Given the description of an element on the screen output the (x, y) to click on. 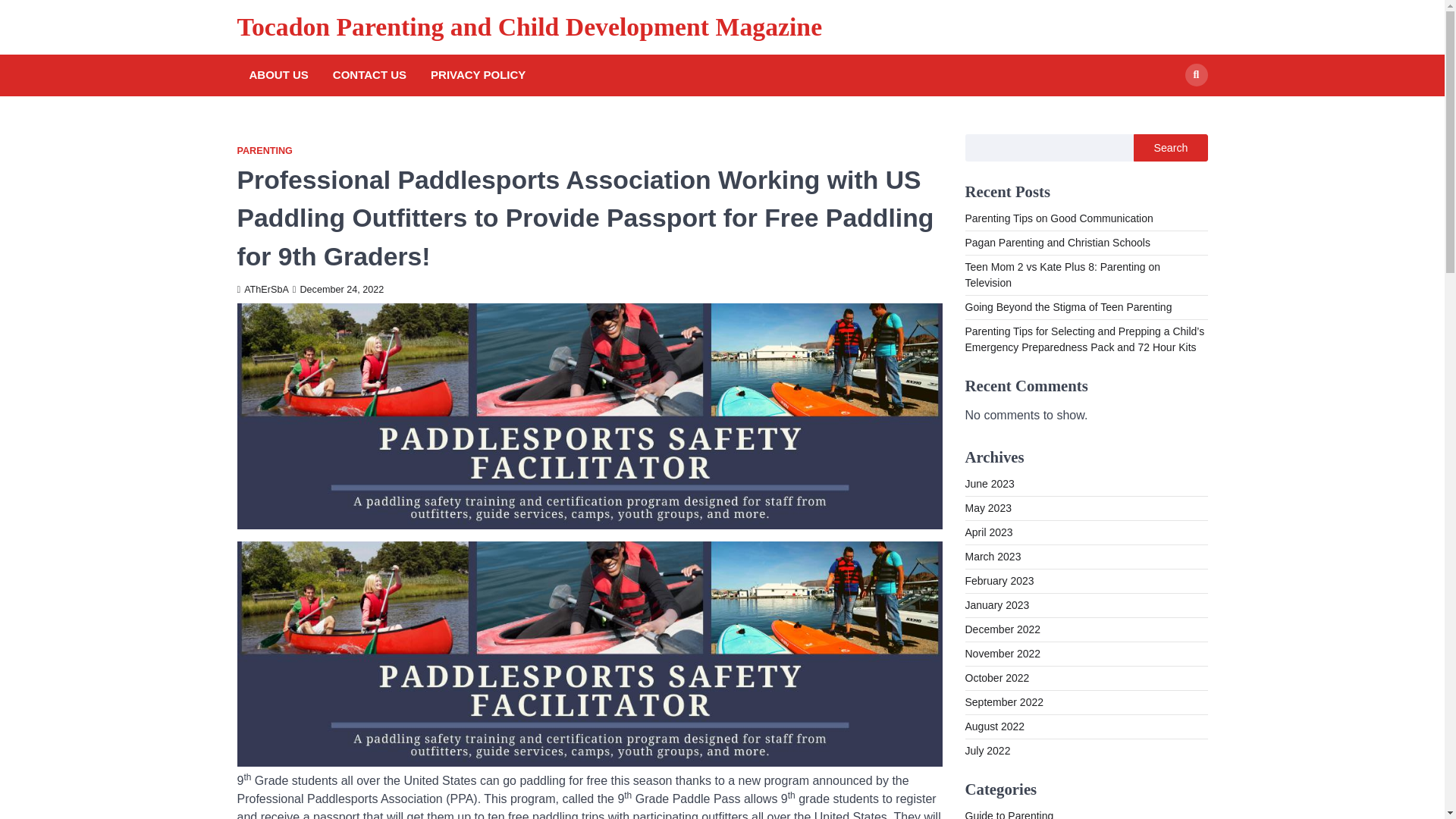
PARENTING (263, 151)
July 2022 (986, 750)
January 2023 (996, 604)
December 24, 2022 (338, 289)
AThErSbA (261, 289)
Search (1196, 74)
November 2022 (1002, 653)
February 2023 (998, 580)
April 2023 (987, 532)
March 2023 (991, 556)
